Given the description of an element on the screen output the (x, y) to click on. 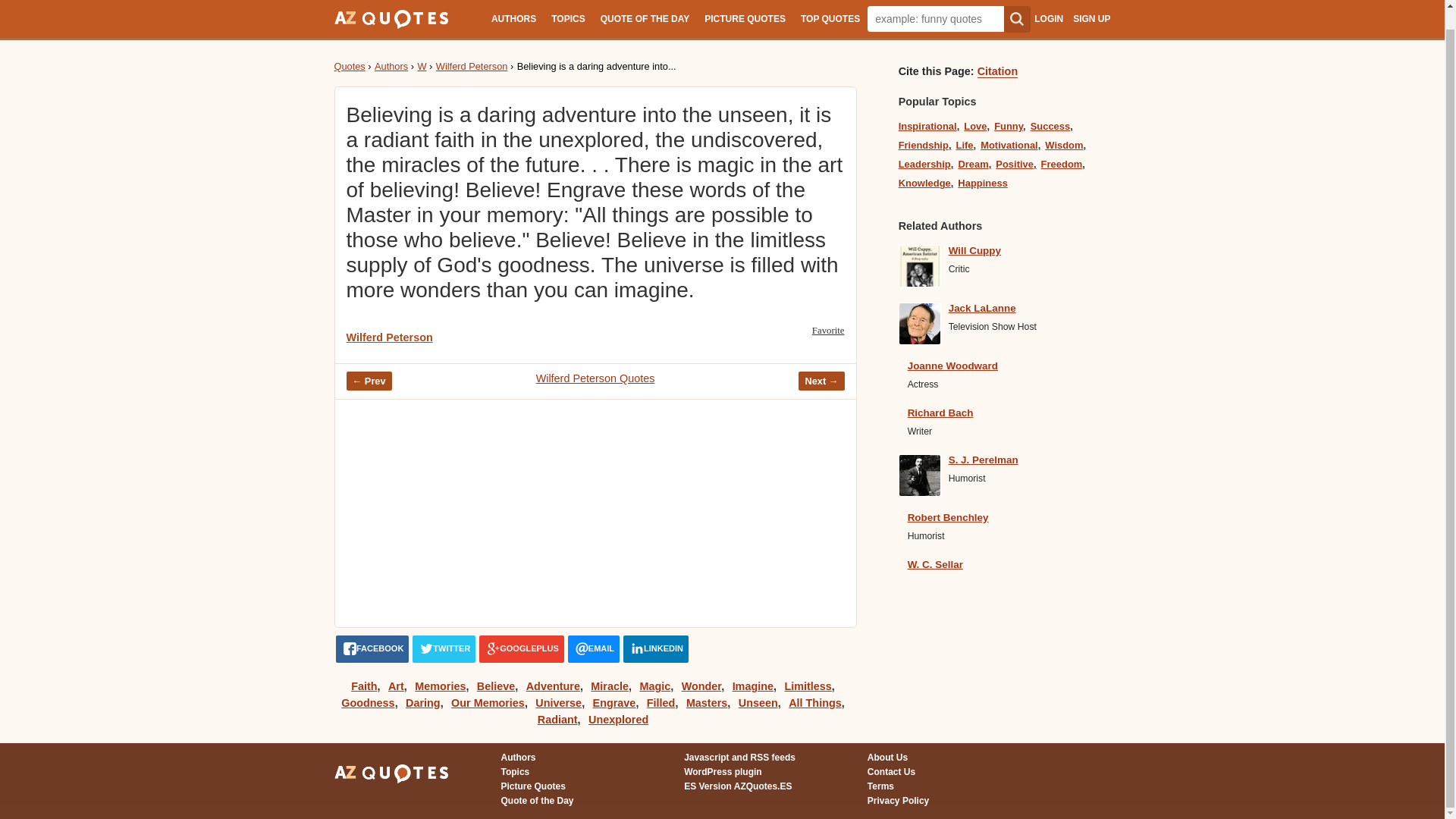
QUOTE OF THE DAY (644, 9)
Quotes (349, 66)
PICTURE QUOTES (745, 9)
TOPICS (567, 9)
SIGN UP (1091, 2)
TOP QUOTES (830, 9)
LOGIN (1047, 2)
AUTHORS (513, 9)
